Given the description of an element on the screen output the (x, y) to click on. 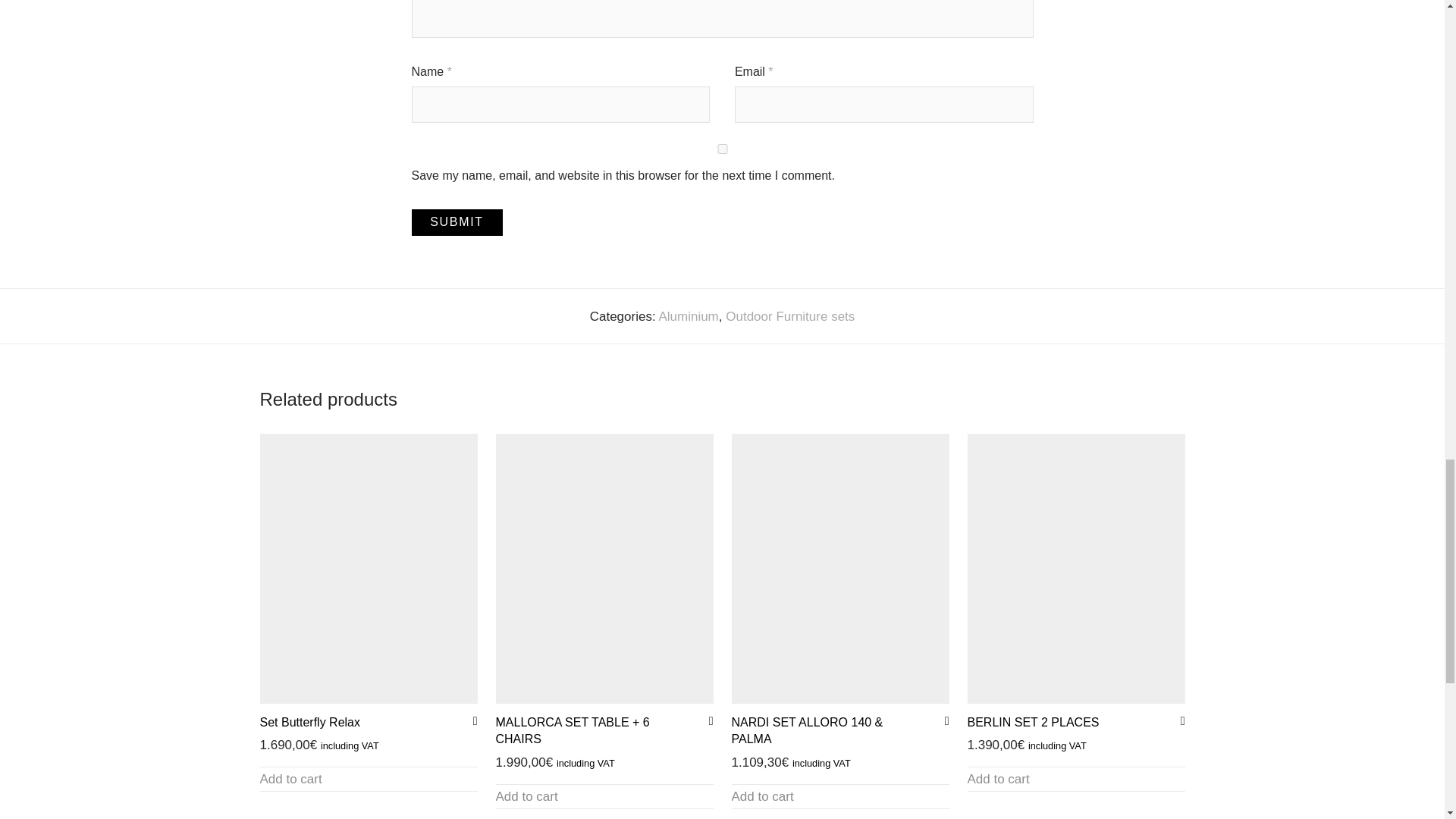
Add to Wishlist (1177, 720)
Submit (456, 222)
Add to Wishlist (470, 720)
Add to Wishlist (941, 720)
Add to Wishlist (705, 720)
yes (721, 148)
